Given the description of an element on the screen output the (x, y) to click on. 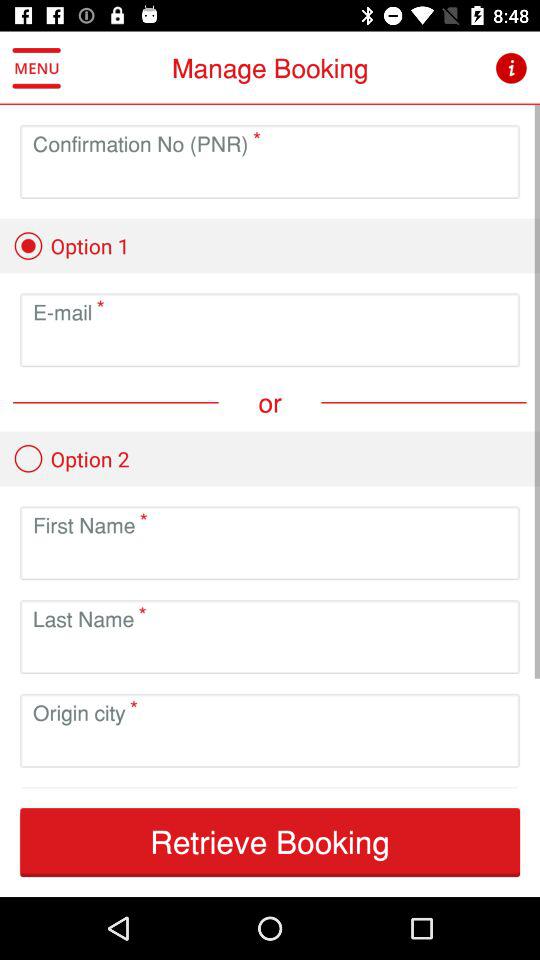
asterick symbol in first text field below option 1 (97, 303)
select the box origin city (269, 746)
select the  above the text  origin city (131, 704)
select the option below confirmation no pnr (70, 245)
